Given the description of an element on the screen output the (x, y) to click on. 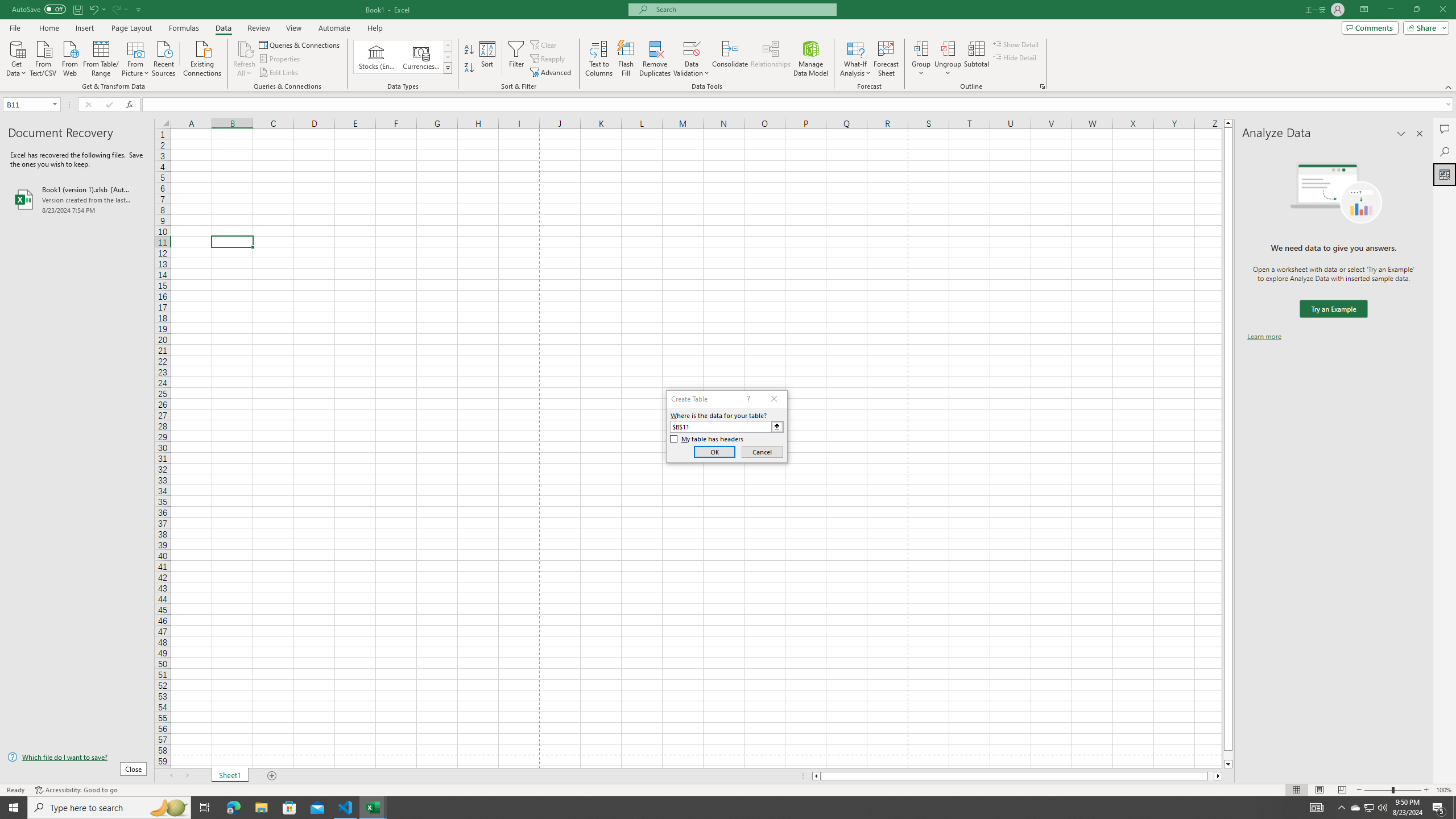
Currencies (English) (420, 56)
Filter (515, 58)
From Table/Range (100, 57)
From Picture (135, 57)
From Web (69, 57)
Class: MsoCommandBar (728, 45)
Existing Connections (202, 57)
